Given the description of an element on the screen output the (x, y) to click on. 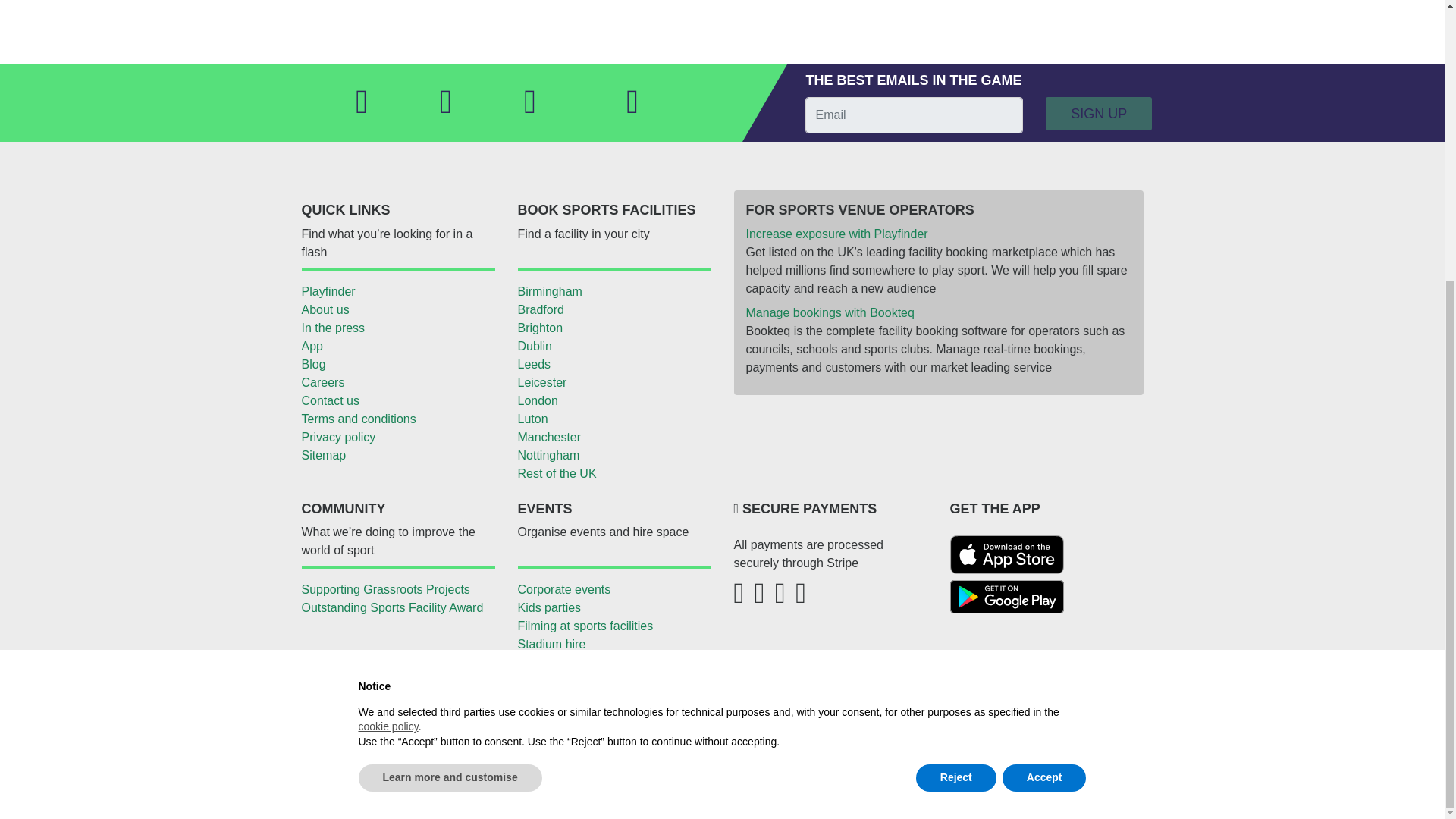
Careers (398, 382)
Terms and conditions (398, 419)
App (398, 346)
Privacy policy (398, 437)
SIGN UP (1098, 113)
In the press (398, 328)
Luton (614, 419)
About us (398, 310)
Playfinder (398, 291)
Blog (398, 364)
London (614, 401)
Birmingham (614, 291)
Sitemap (398, 455)
Leicester (614, 382)
Bradford (614, 310)
